Given the description of an element on the screen output the (x, y) to click on. 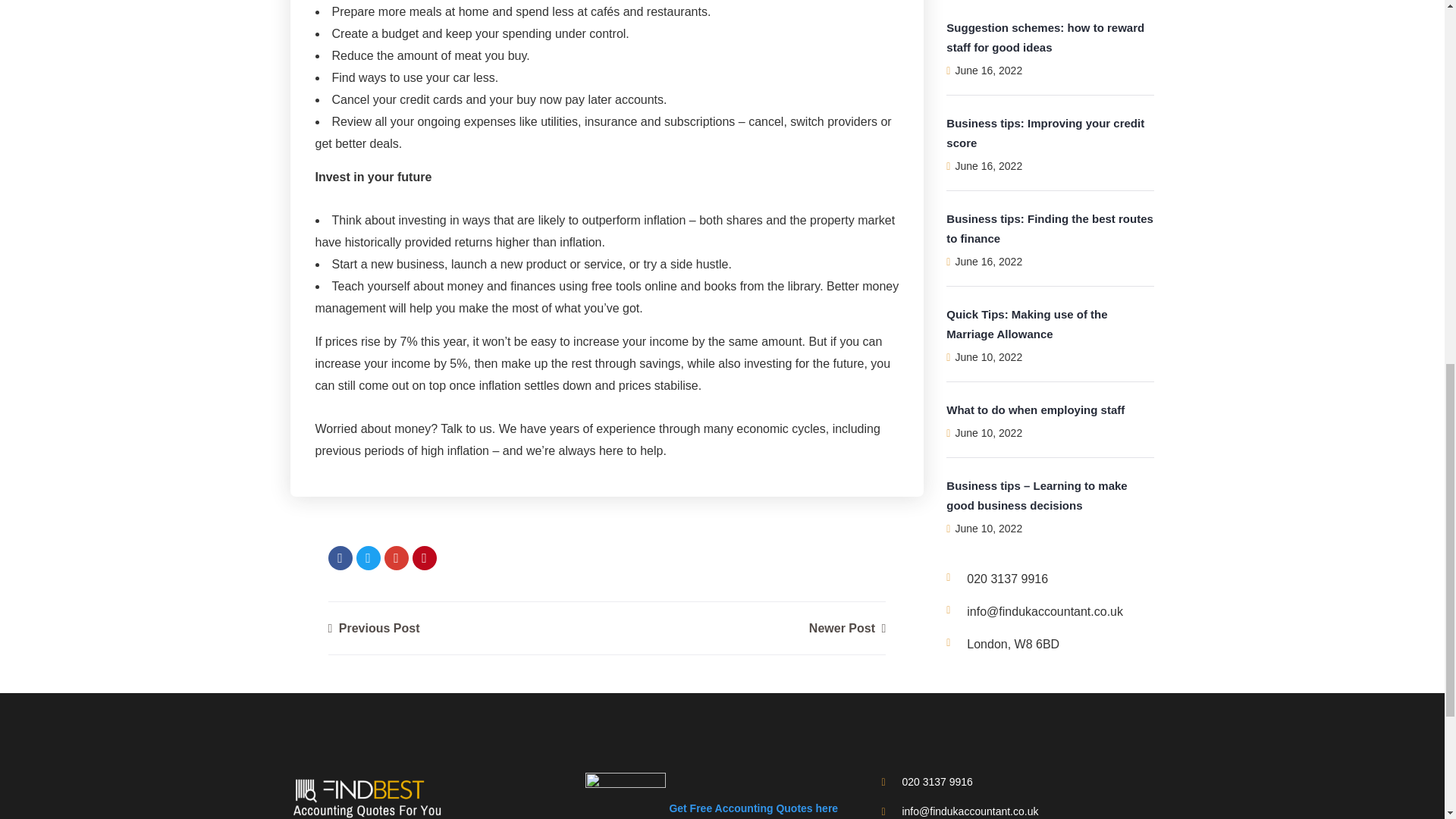
Quick Tips: Making use of the Marriage Allowance (1026, 142)
Twitter (368, 558)
What to do when employing staff (1035, 227)
Facebook (339, 558)
Previous Post (373, 627)
Google Plus (395, 558)
Get Free Accounting Quotes here (711, 808)
Newer Post (847, 627)
Pinterest (424, 558)
Business tips: Finding the best routes to finance (1049, 46)
